Given the description of an element on the screen output the (x, y) to click on. 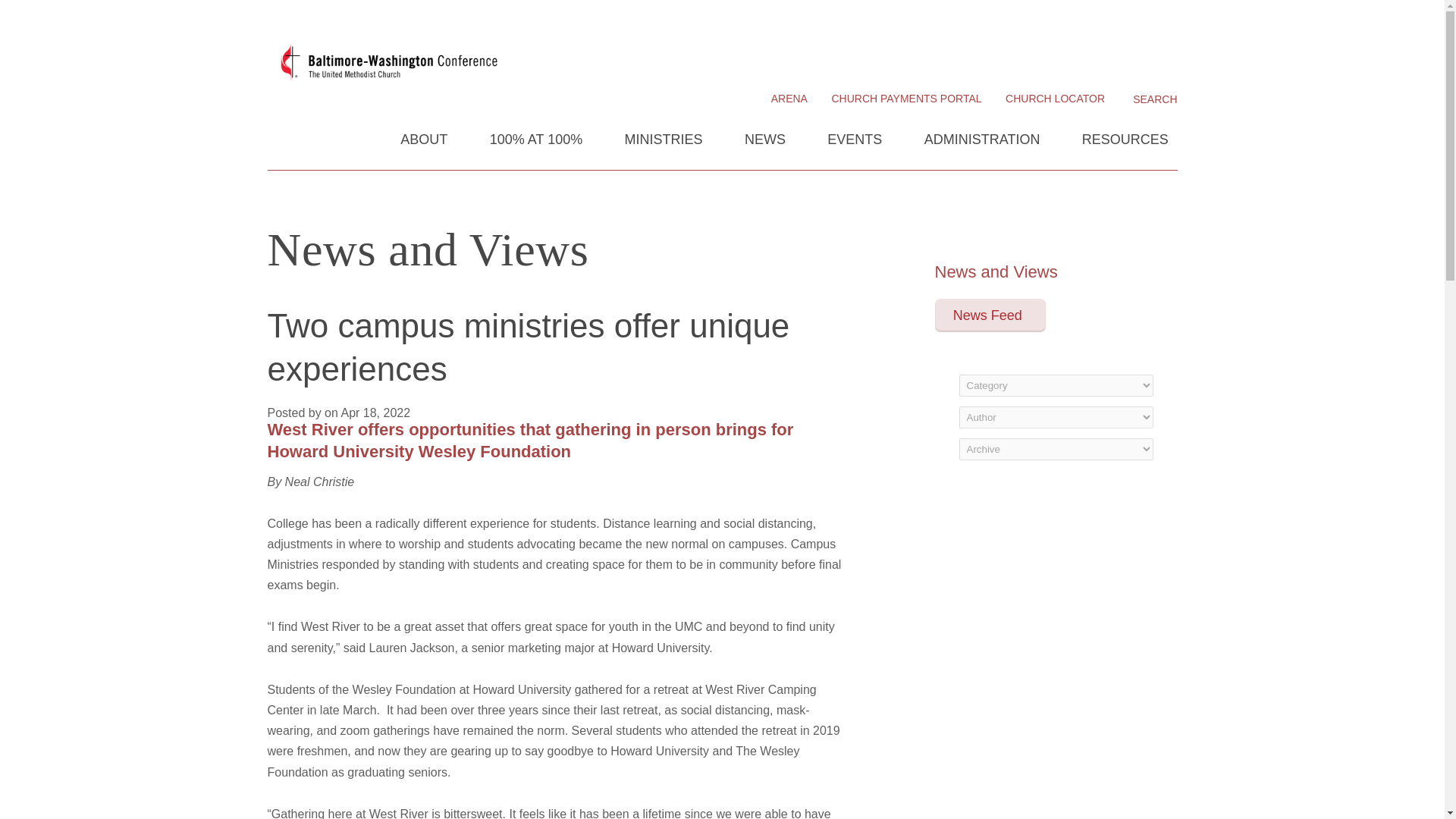
CHURCH PAYMENTS PORTAL (906, 98)
Church Payments Portal (906, 98)
Church Locator (1055, 98)
Arena (789, 98)
ARENA (789, 98)
CHURCH LOCATOR (1055, 98)
ABOUT (424, 148)
